Given the description of an element on the screen output the (x, y) to click on. 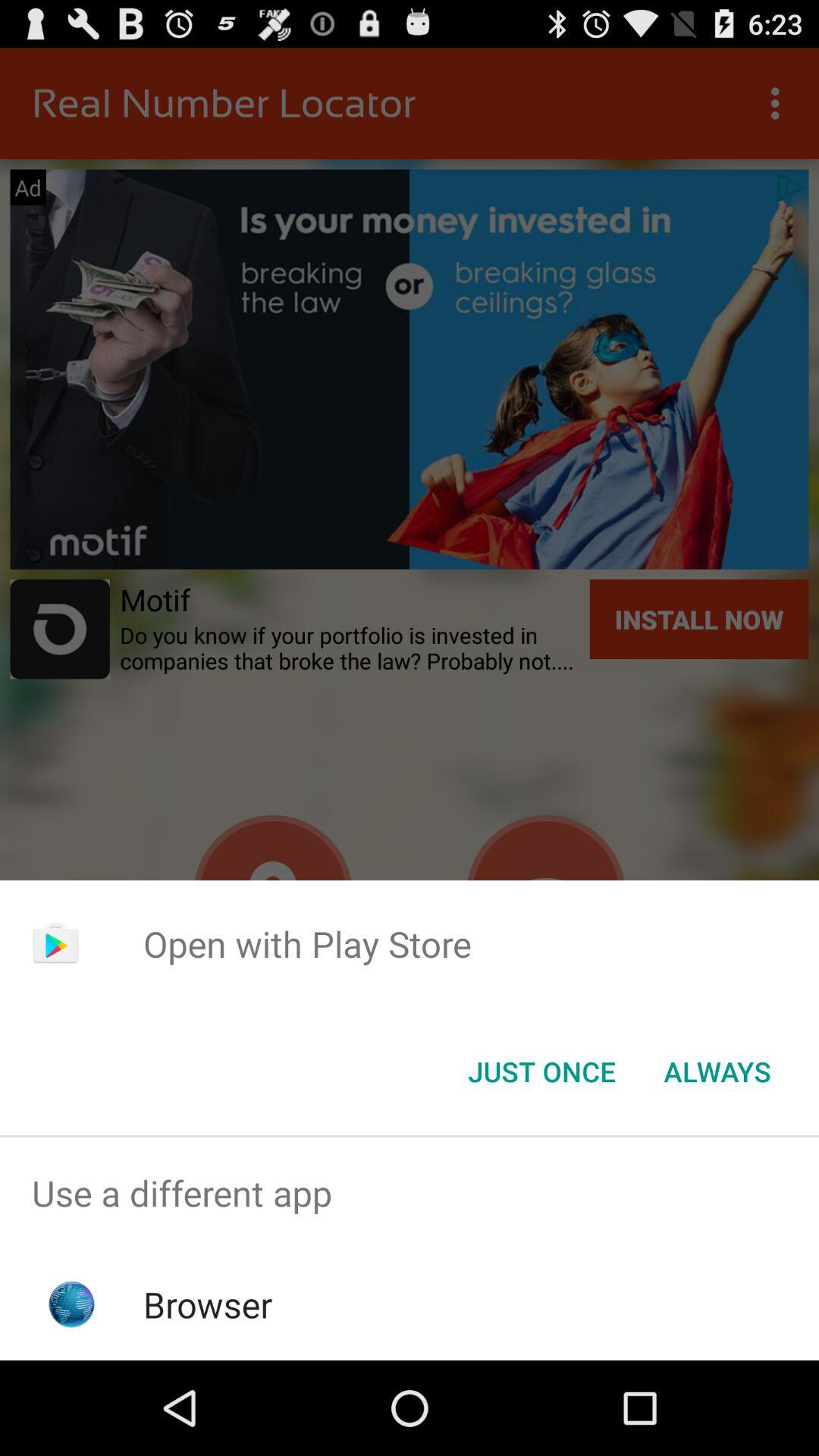
launch icon above the browser icon (409, 1192)
